Given the description of an element on the screen output the (x, y) to click on. 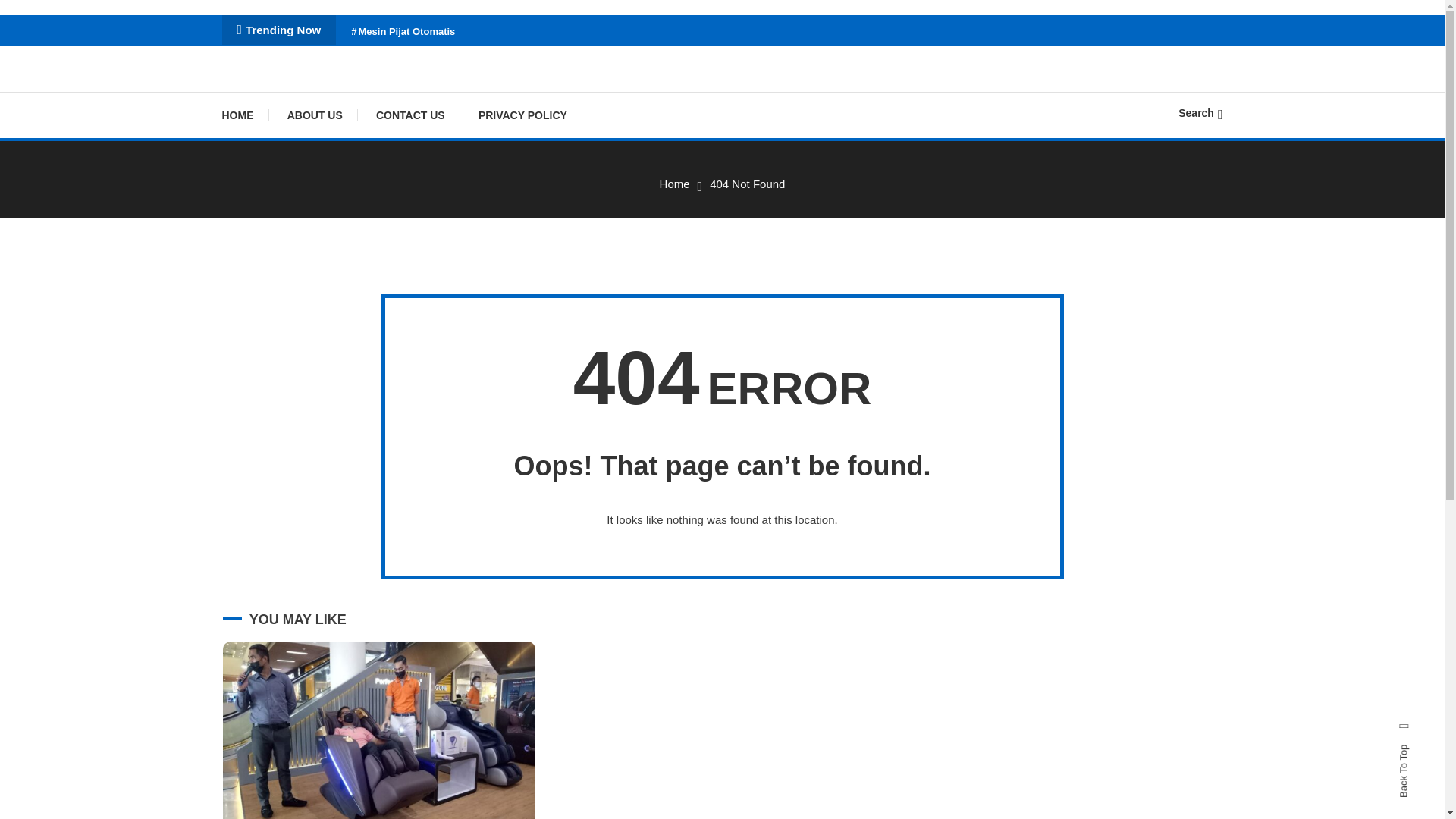
CONTACT US (410, 115)
Home (674, 183)
PRIVACY POLICY (522, 115)
Search (768, 434)
ABOUT US (315, 115)
Mesin Pijat Otomatis (402, 30)
HOME (244, 115)
Search (1200, 112)
